Given the description of an element on the screen output the (x, y) to click on. 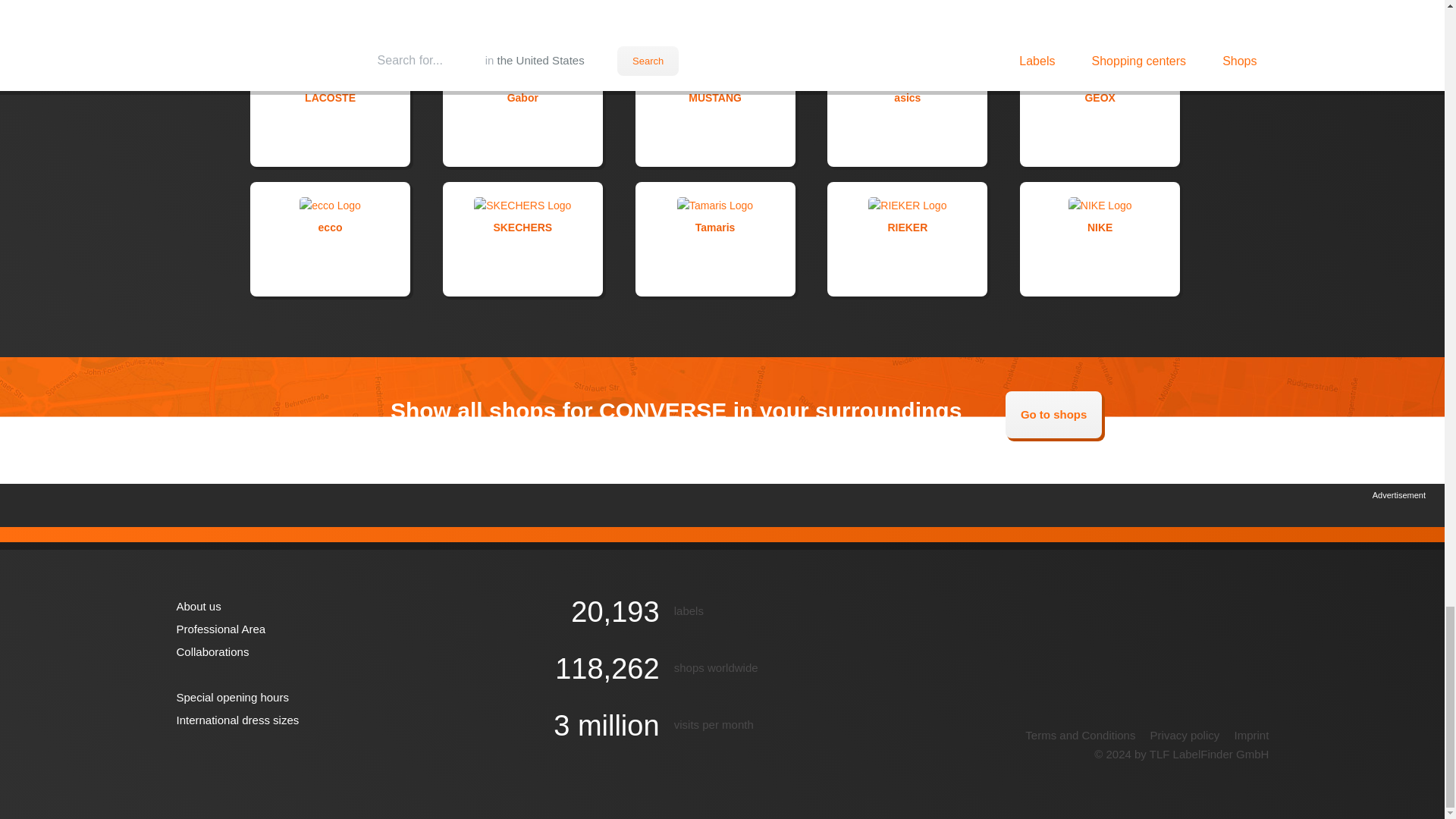
asics (907, 108)
LLOYD Shoes (714, 17)
PUMA Performance (522, 17)
Timberland (907, 17)
LACOSTE (330, 108)
Timberland (907, 17)
ESPRIT (330, 17)
GEOX (1099, 108)
MUSTANG (714, 108)
LLOYD Shoes (714, 17)
